Given the description of an element on the screen output the (x, y) to click on. 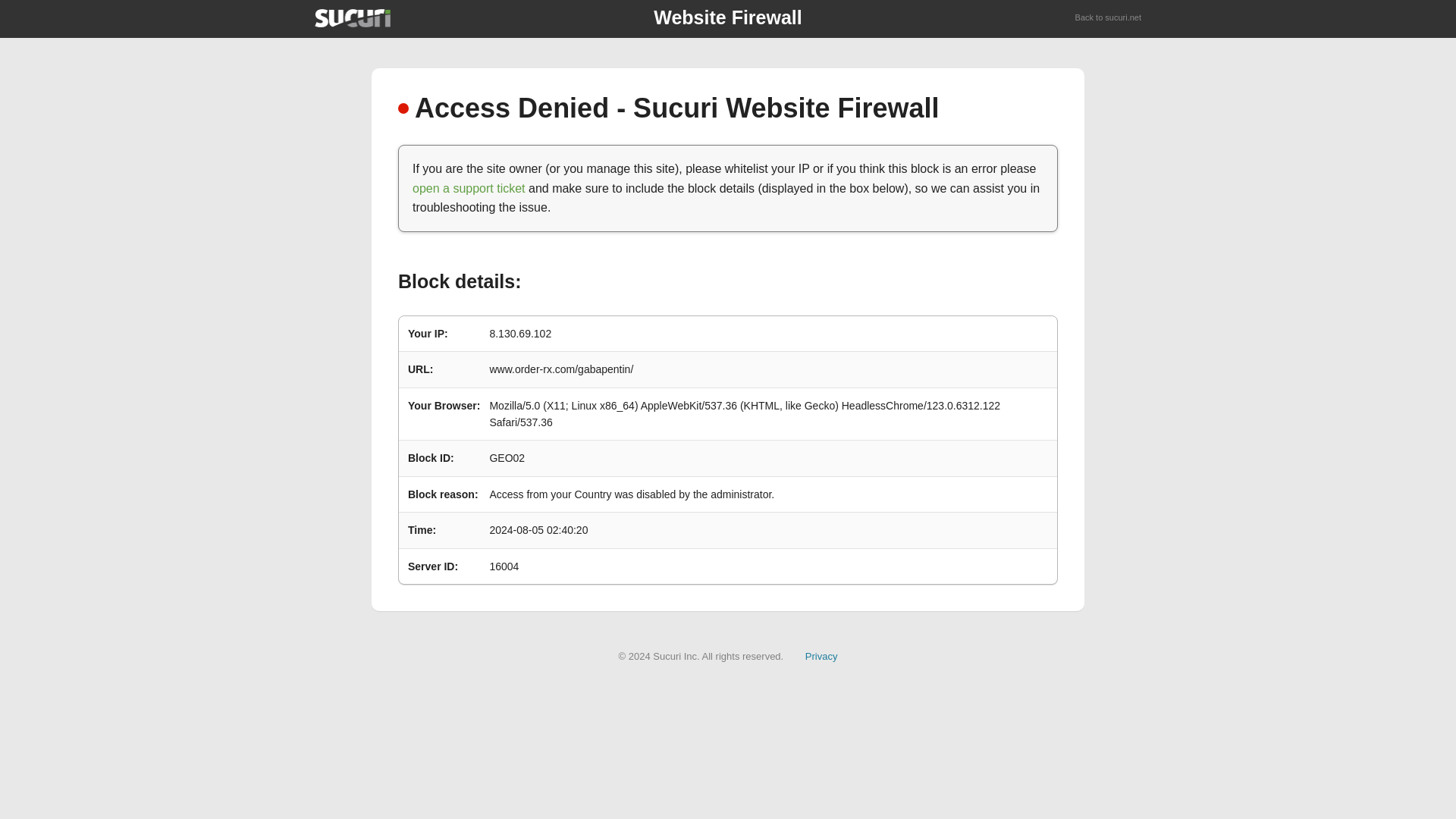
open a support ticket (468, 187)
Privacy (821, 655)
Back to sucuri.net (1108, 18)
